Given the description of an element on the screen output the (x, y) to click on. 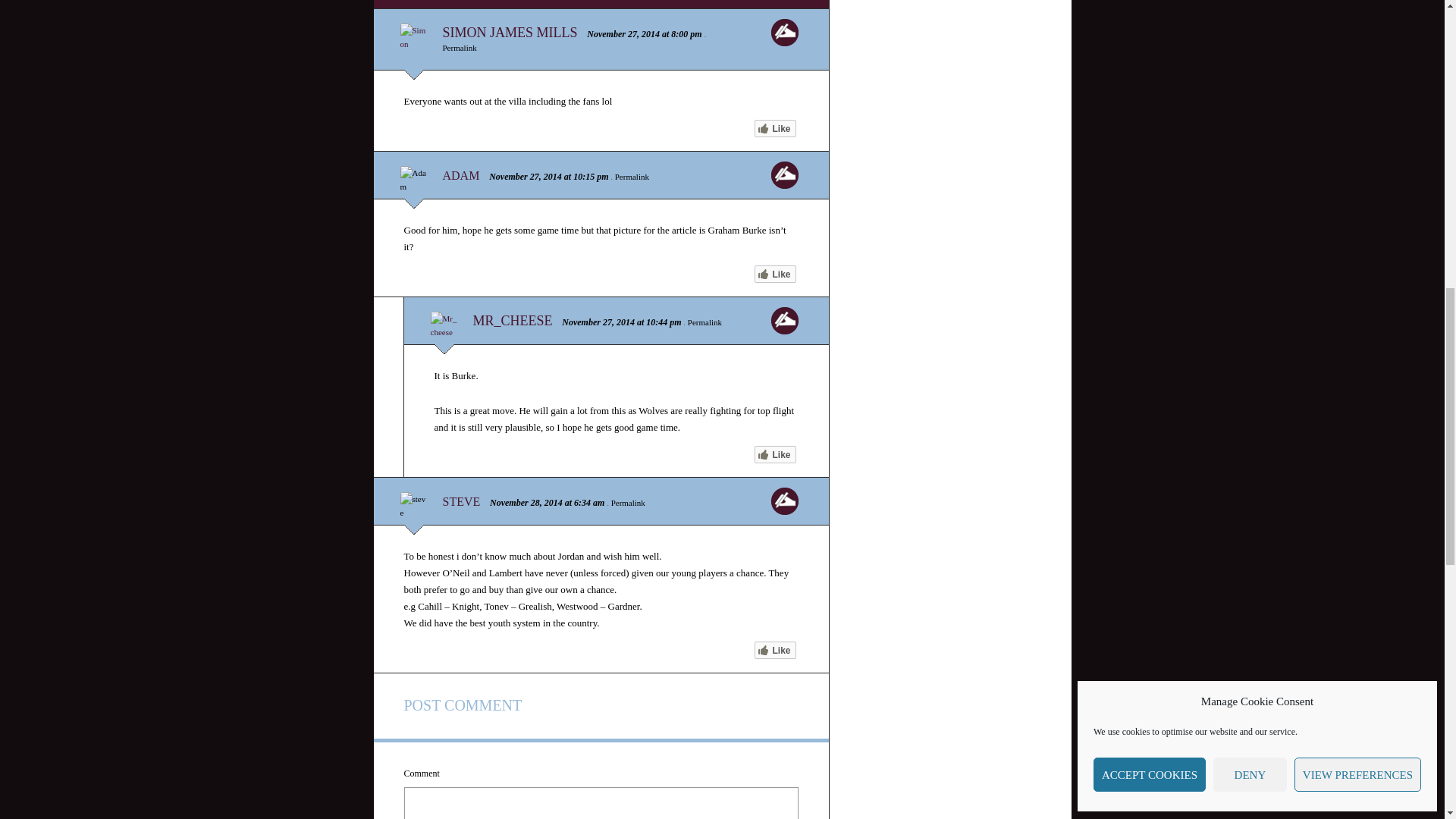
SIMON JAMES MILLS (510, 32)
Thursday, November 27th, 2014, 8:00 pm (622, 33)
Thursday, November 27th, 2014, 10:15 pm (525, 176)
Thursday, November 27th, 2014, 8:00 pm (686, 33)
Reply (783, 501)
Simon James Mills (510, 32)
Reply (783, 320)
Reply (783, 31)
Permalink (704, 321)
Permalink (459, 47)
Permalink (631, 175)
Reply (783, 175)
Permalink (628, 501)
Permalink to comment 32343 (459, 47)
Thursday, November 27th, 2014, 10:15 pm (590, 176)
